Given the description of an element on the screen output the (x, y) to click on. 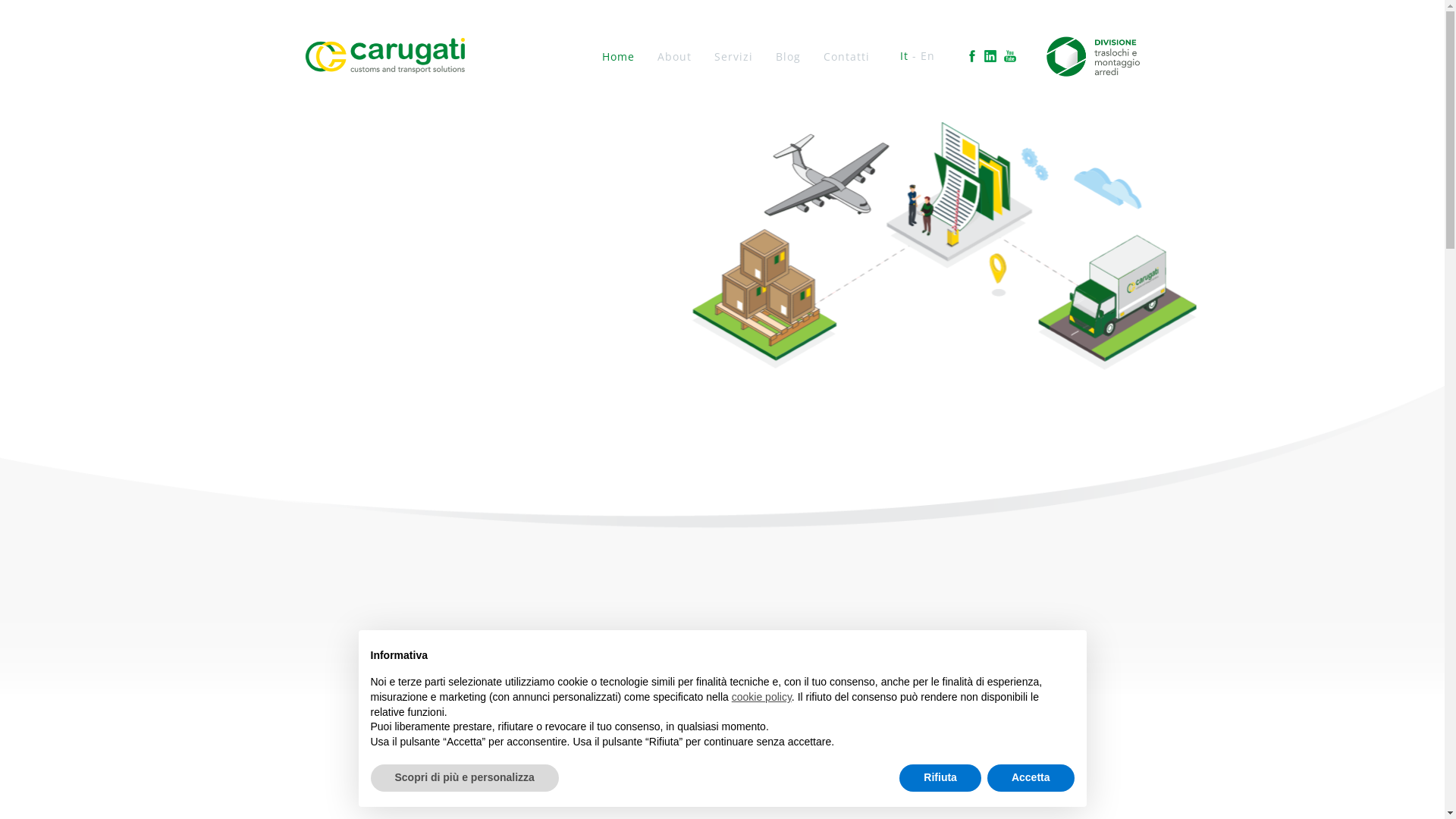
En Element type: text (927, 55)
Blog Element type: text (787, 56)
Rifiuta Element type: text (940, 777)
Accetta Element type: text (1030, 777)
Home Element type: text (618, 56)
Contatti Element type: text (846, 56)
cookie policy Element type: text (761, 696)
Servizi Element type: text (733, 56)
About Element type: text (674, 56)
It Element type: text (904, 55)
